Given the description of an element on the screen output the (x, y) to click on. 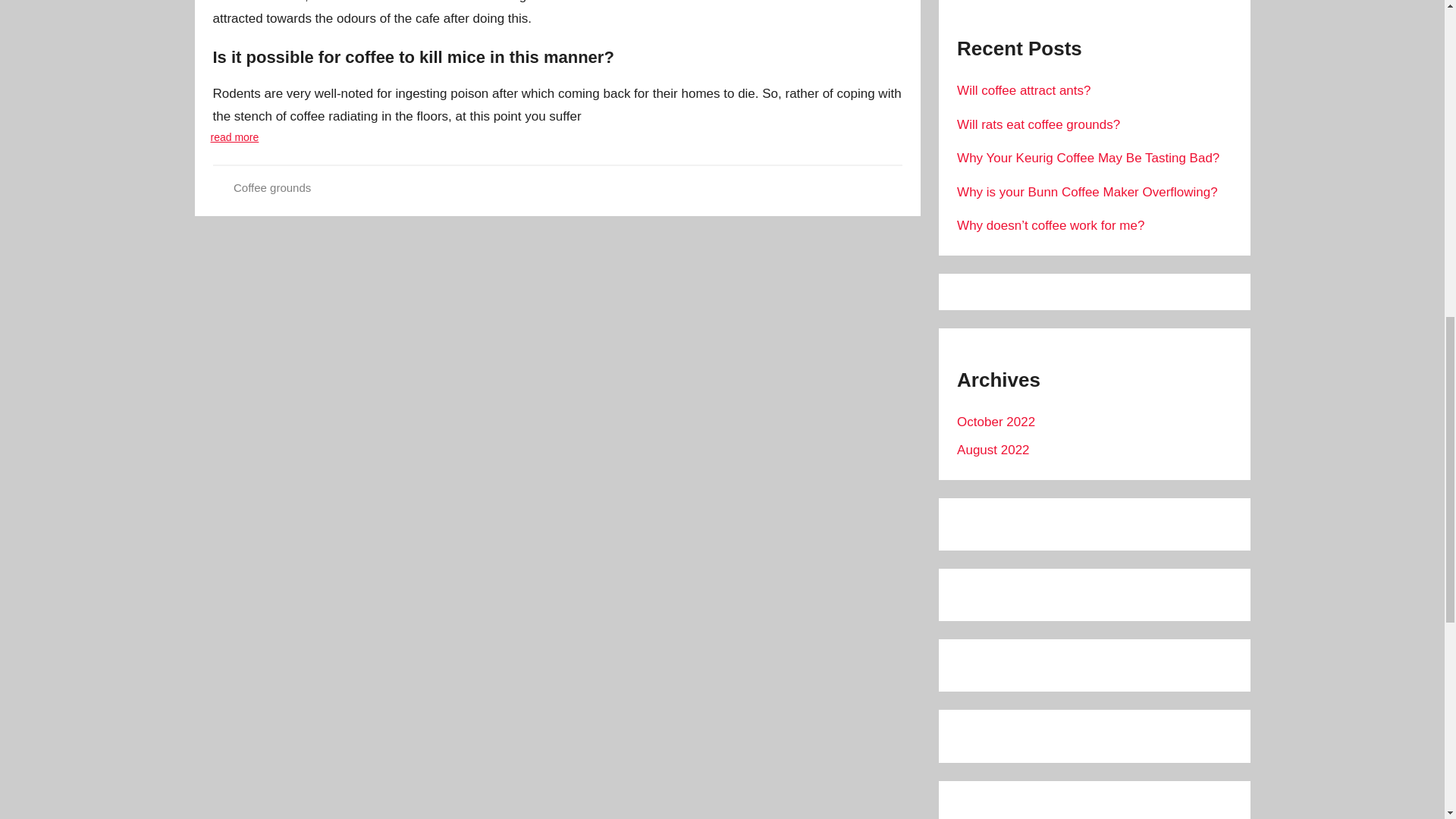
August 2022 (992, 450)
Coffee grounds (271, 187)
read more (234, 137)
Why is your Bunn Coffee Maker Overflowing? (1086, 192)
Will rats eat coffee grounds? (1037, 124)
Why Your Keurig Coffee May Be Tasting Bad? (1088, 157)
Will coffee attract ants? (1023, 90)
October 2022 (995, 421)
